Given the description of an element on the screen output the (x, y) to click on. 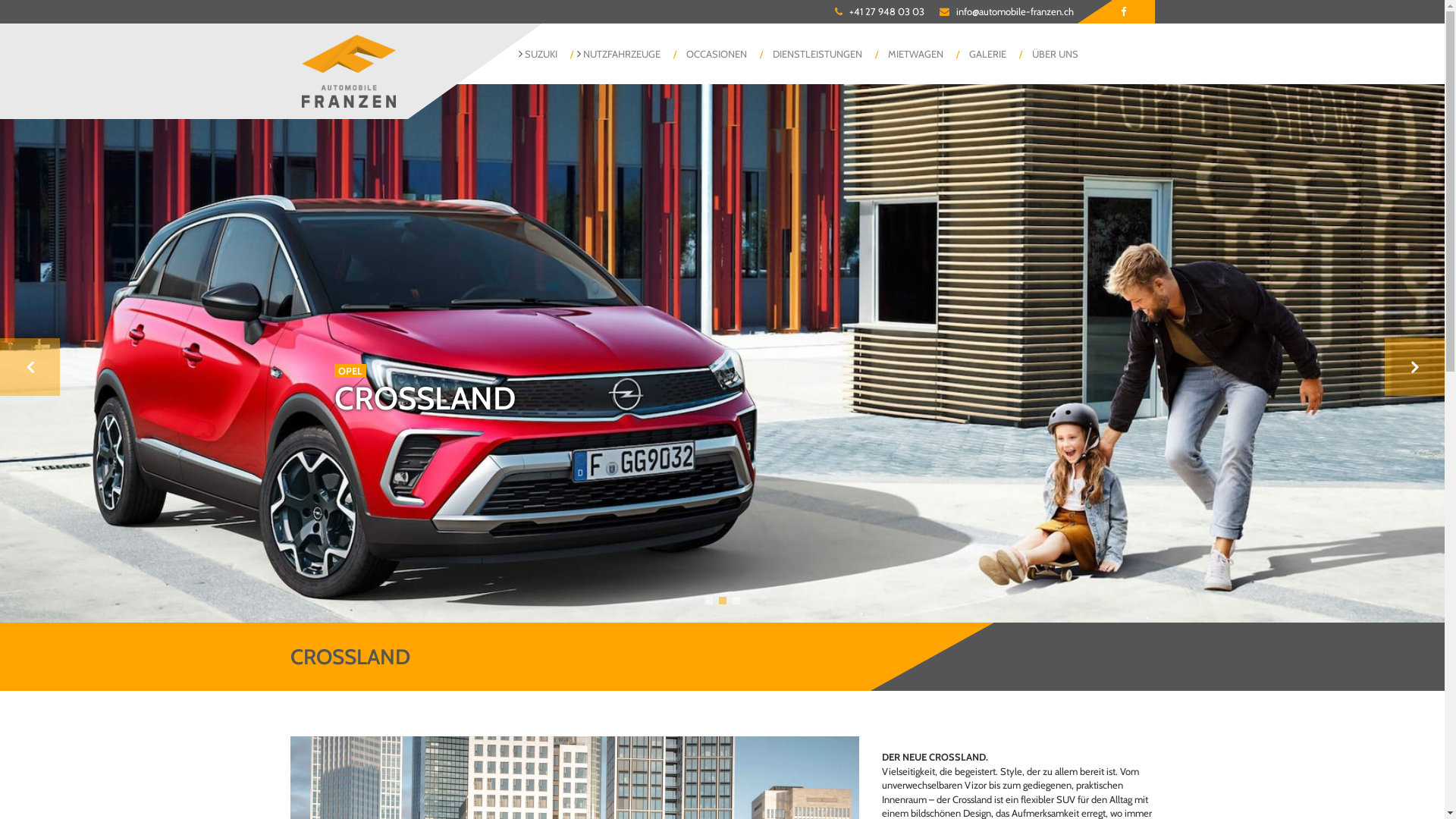
DIENSTLEISTUNGEN Element type: text (817, 53)
MIETWAGEN Element type: text (915, 53)
GALERIE Element type: text (987, 53)
SUZUKI Element type: text (540, 53)
OCCASIONEN Element type: text (716, 53)
info@automobile-franzen.ch Element type: text (1014, 11)
NUTZFAHRZEUGE Element type: text (621, 53)
